Given the description of an element on the screen output the (x, y) to click on. 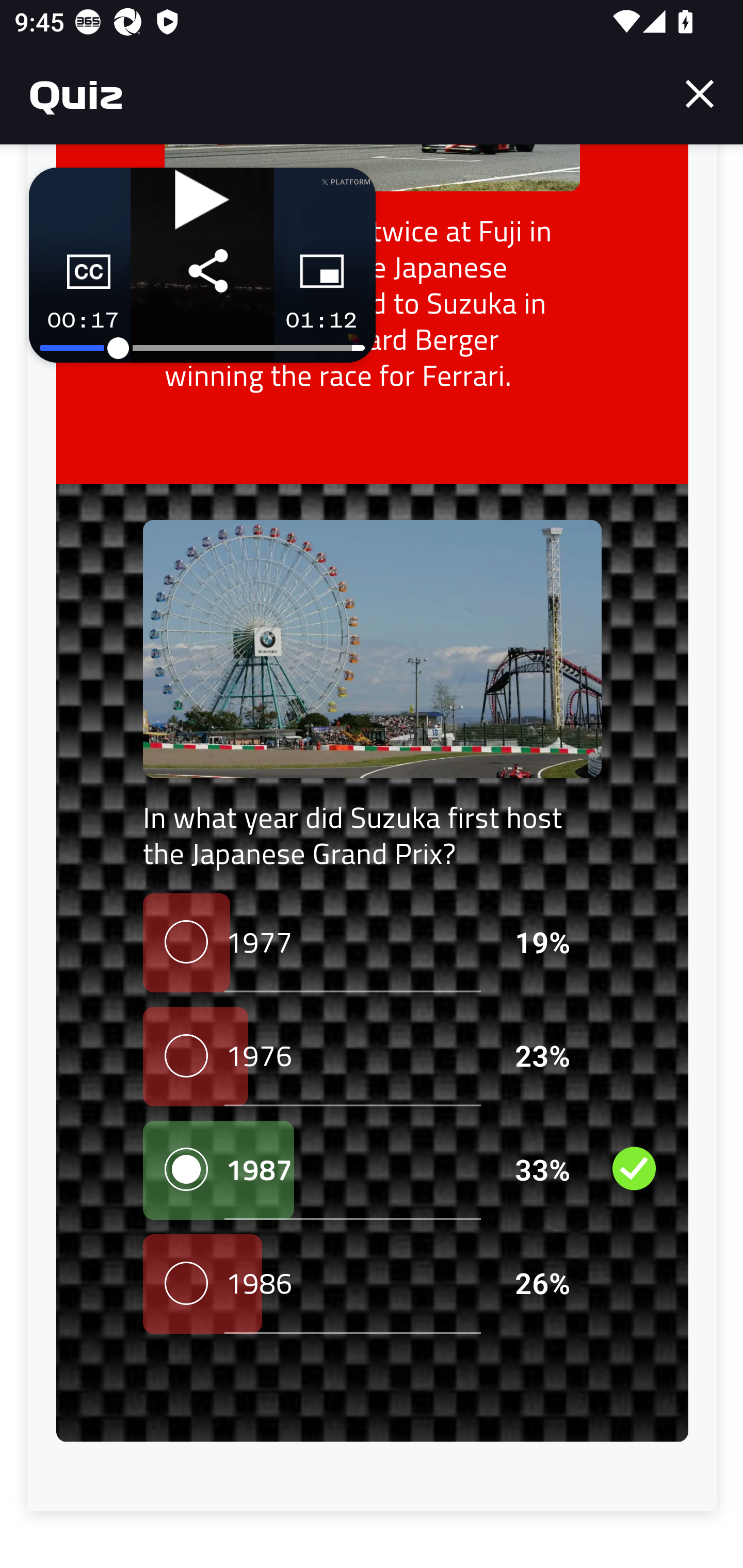
Close (699, 93)
1977 19% (372, 943)
1976 23% (372, 1057)
1987 33%  (372, 1171)
1986 26% (372, 1285)
